Given the description of an element on the screen output the (x, y) to click on. 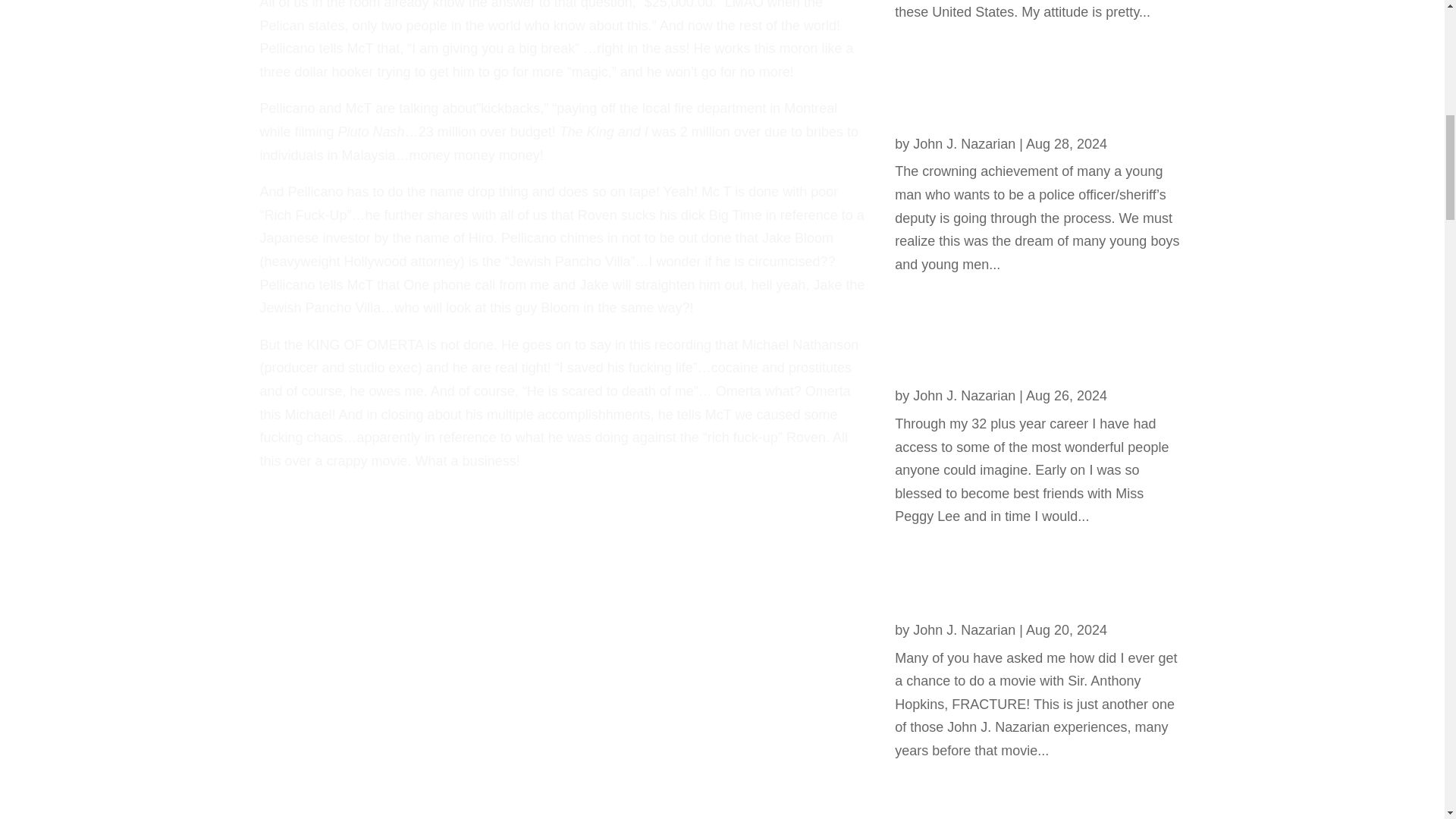
John J. Nazarian (963, 630)
Sir. Anthony Hopkins (978, 601)
John J. Nazarian (963, 395)
John J. Nazarian (963, 143)
Posts by John J. Nazarian (963, 630)
Posts by John J. Nazarian (963, 143)
Posts by John J. Nazarian (963, 395)
Steven Bochco and John J. Nazarian (1005, 106)
